Given the description of an element on the screen output the (x, y) to click on. 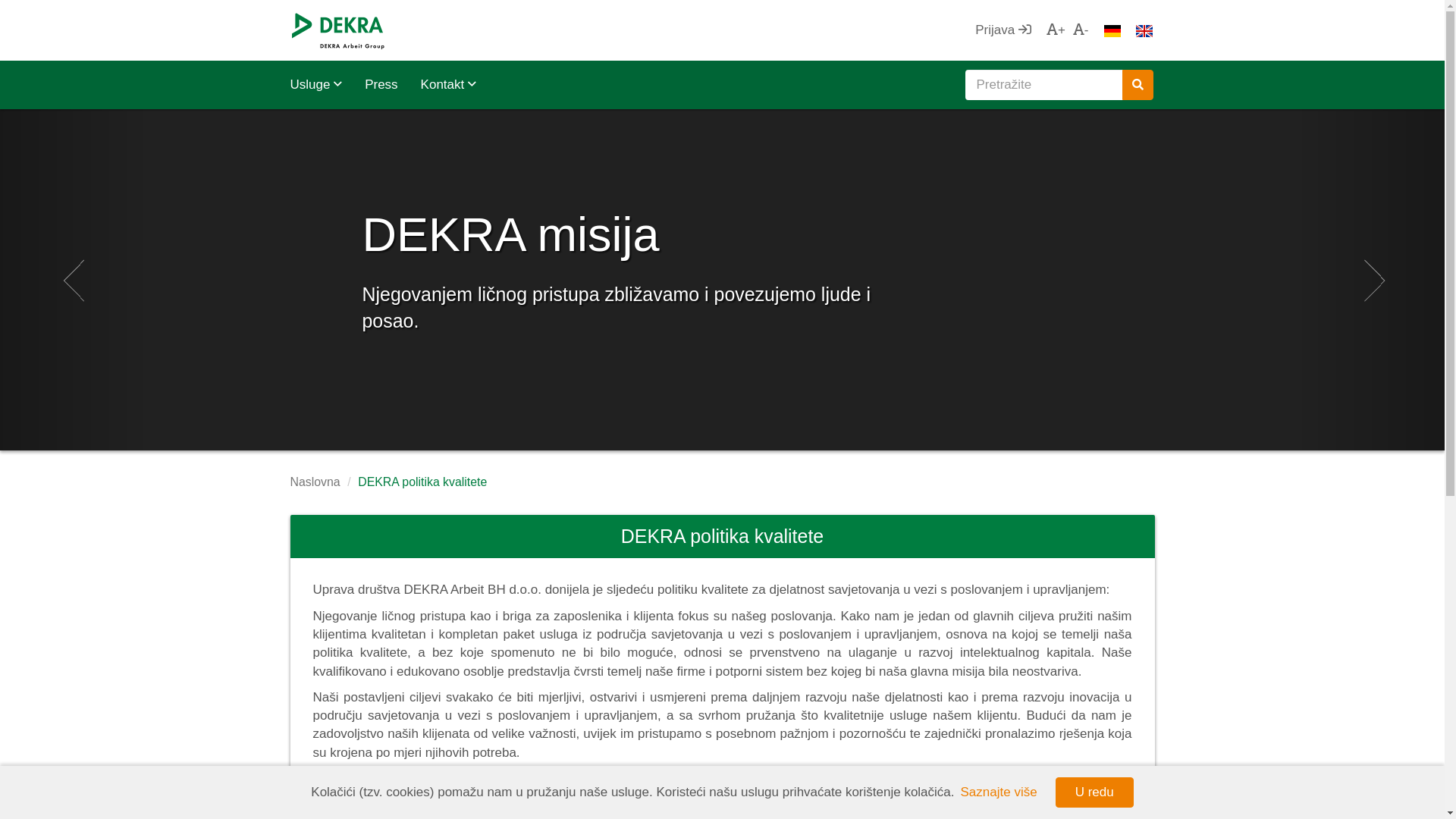
Naslovna Element type: text (314, 482)
- Element type: text (1080, 30)
Prijava Element type: text (1006, 30)
Usluge Element type: text (321, 84)
U redu Element type: text (1094, 792)
Press Element type: text (380, 84)
Previous Element type: text (72, 279)
Engleski Element type: hover (1143, 31)
Kontakt Element type: text (443, 84)
Next Element type: text (1371, 279)
DEKRA misija Element type: text (729, 234)
+ Element type: text (1051, 30)
